Given the description of an element on the screen output the (x, y) to click on. 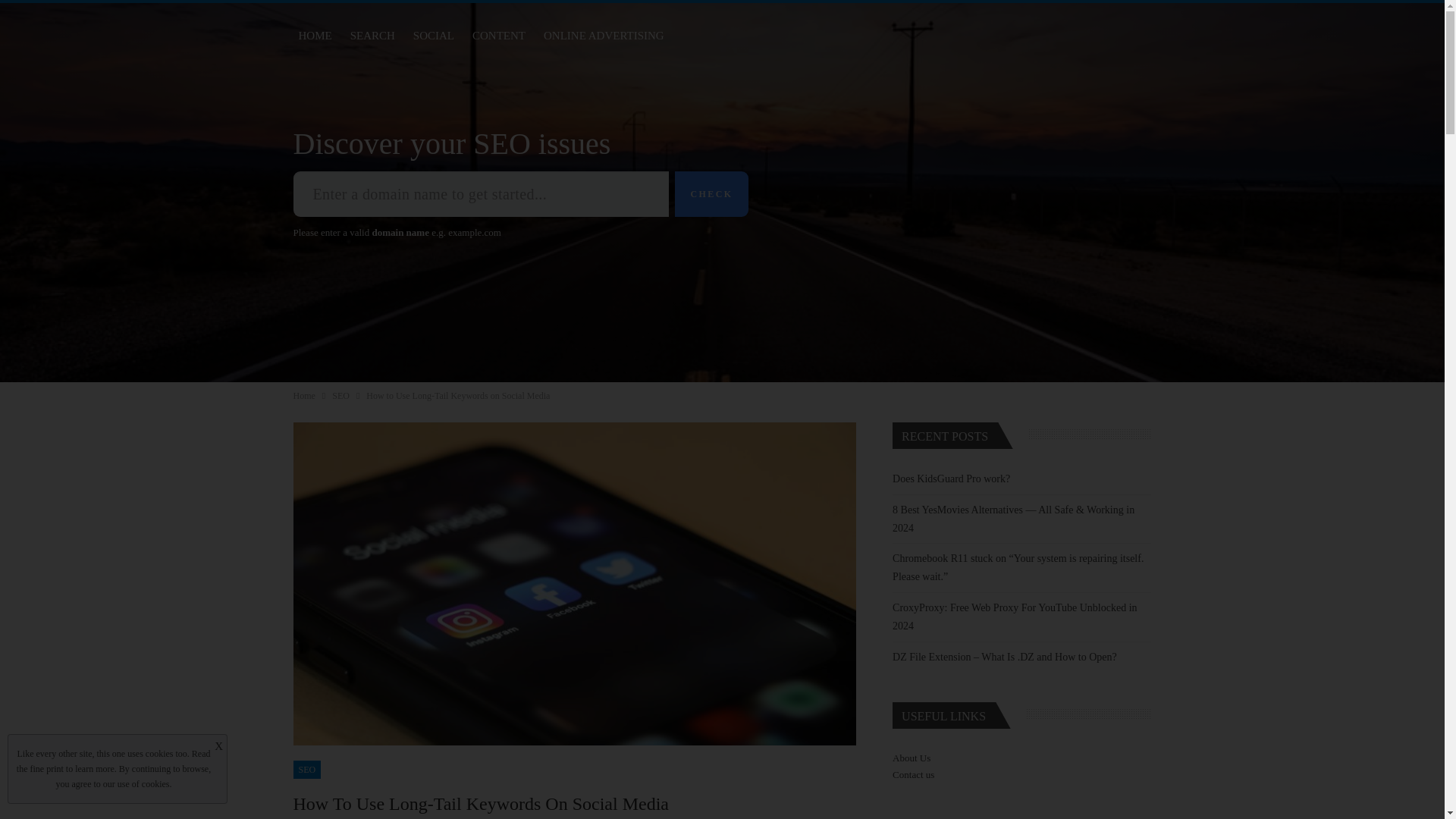
CHECK (711, 194)
SEO (306, 769)
ONLINE ADVERTISING (603, 35)
SOCIAL (433, 35)
SEARCH (372, 35)
SEO (340, 395)
CONTENT (499, 35)
Home (303, 395)
